Given the description of an element on the screen output the (x, y) to click on. 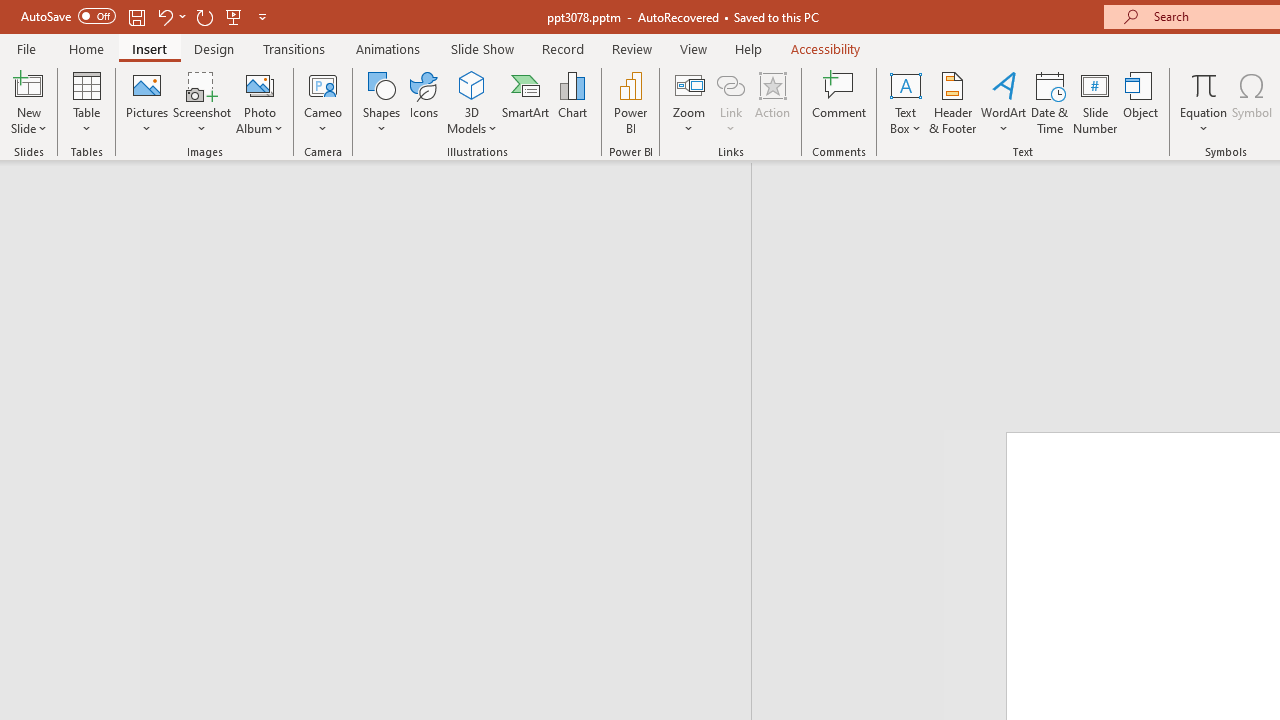
Draw Horizontal Text Box (905, 84)
Power BI (630, 102)
3D Models (472, 102)
SmartArt... (525, 102)
WordArt (1004, 102)
Slide Number (1095, 102)
Screenshot (202, 102)
